Given the description of an element on the screen output the (x, y) to click on. 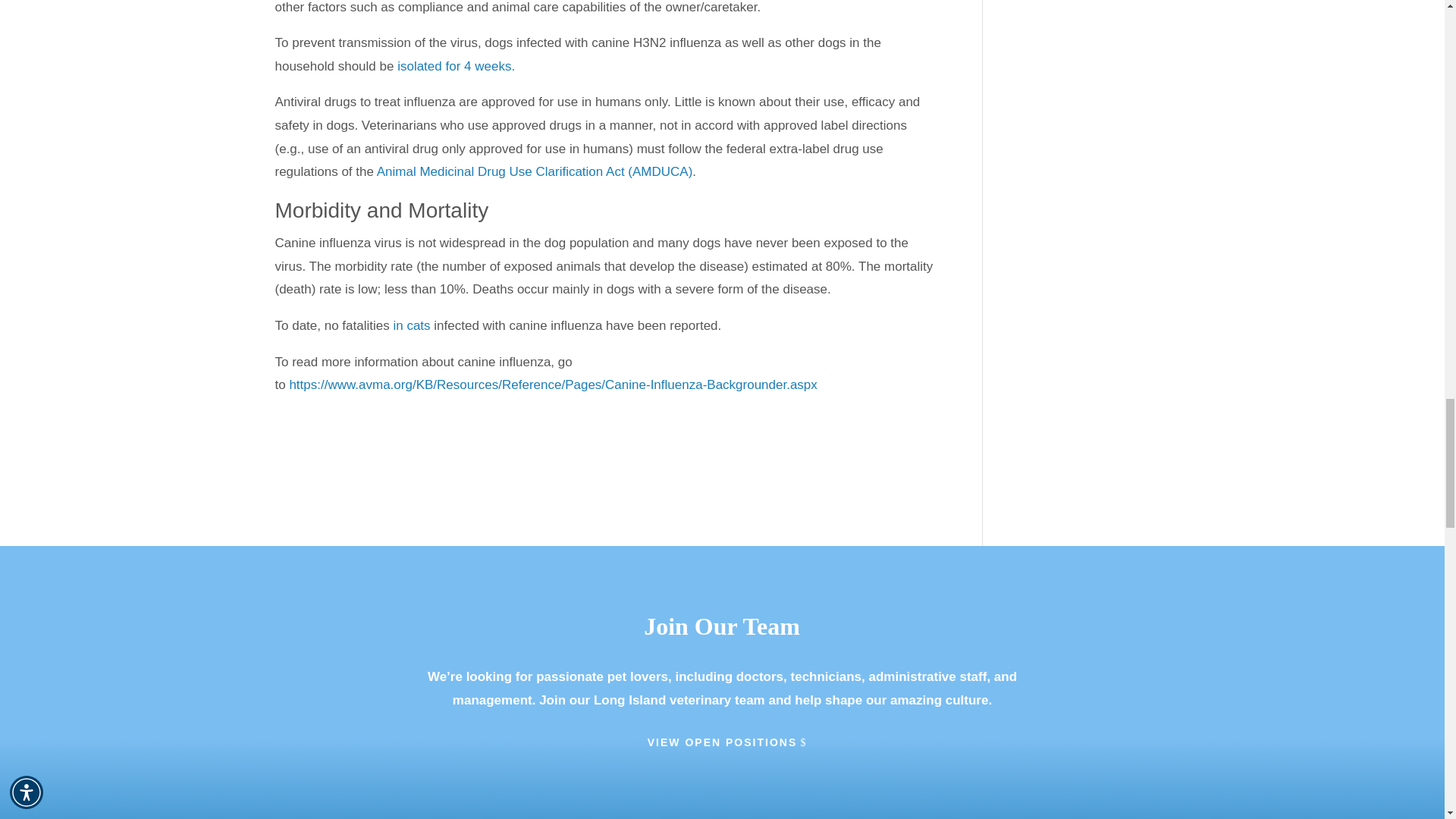
dogs-and-cats-sticking-heads-through-blue-paper-1b (501, 600)
